Given the description of an element on the screen output the (x, y) to click on. 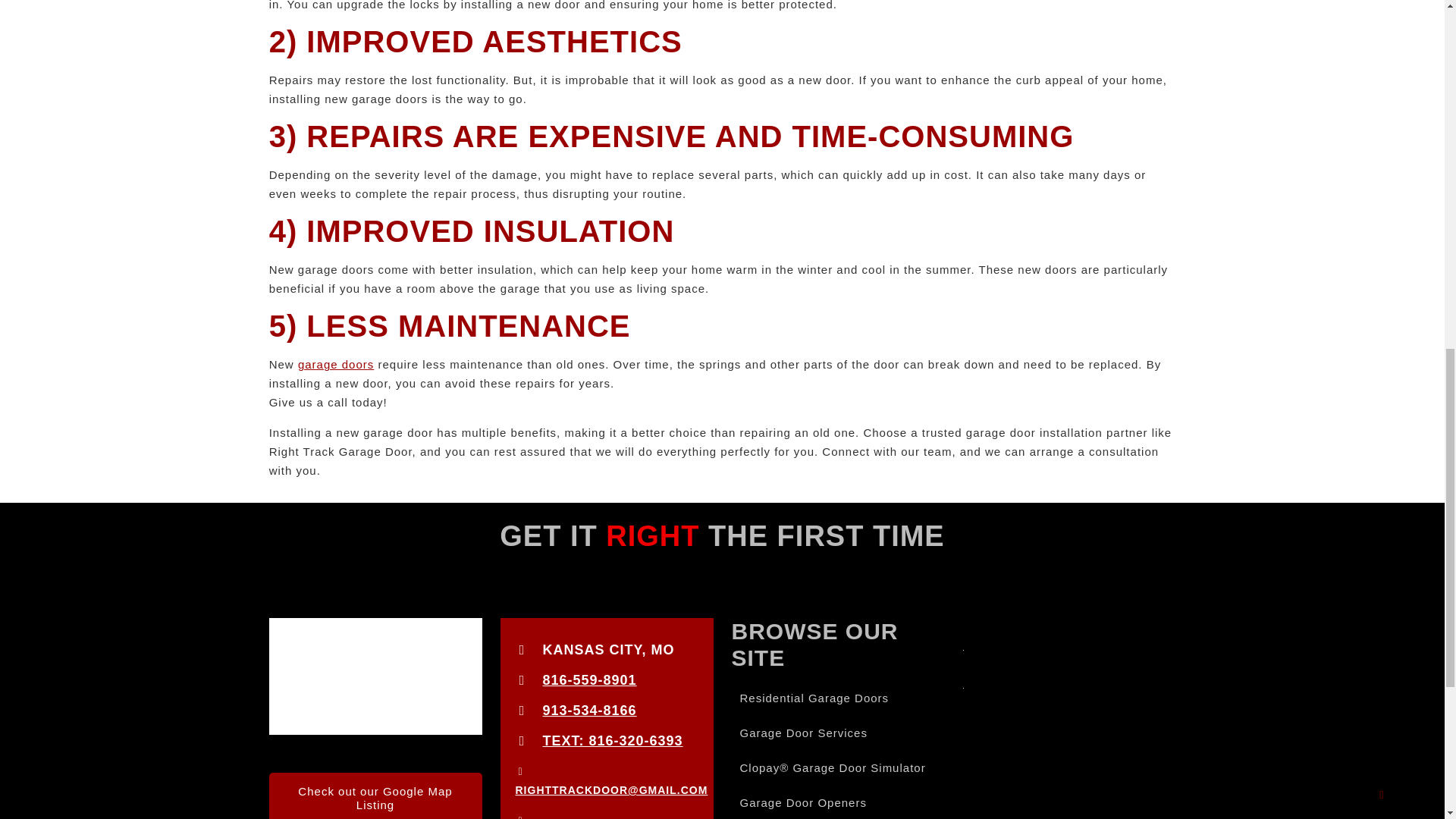
TEXT: 816-320-6393 (612, 740)
garage doors (336, 364)
Check out our Google Map Listing (374, 796)
913-534-8166 (590, 710)
816-559-8901 (590, 679)
